Given the description of an element on the screen output the (x, y) to click on. 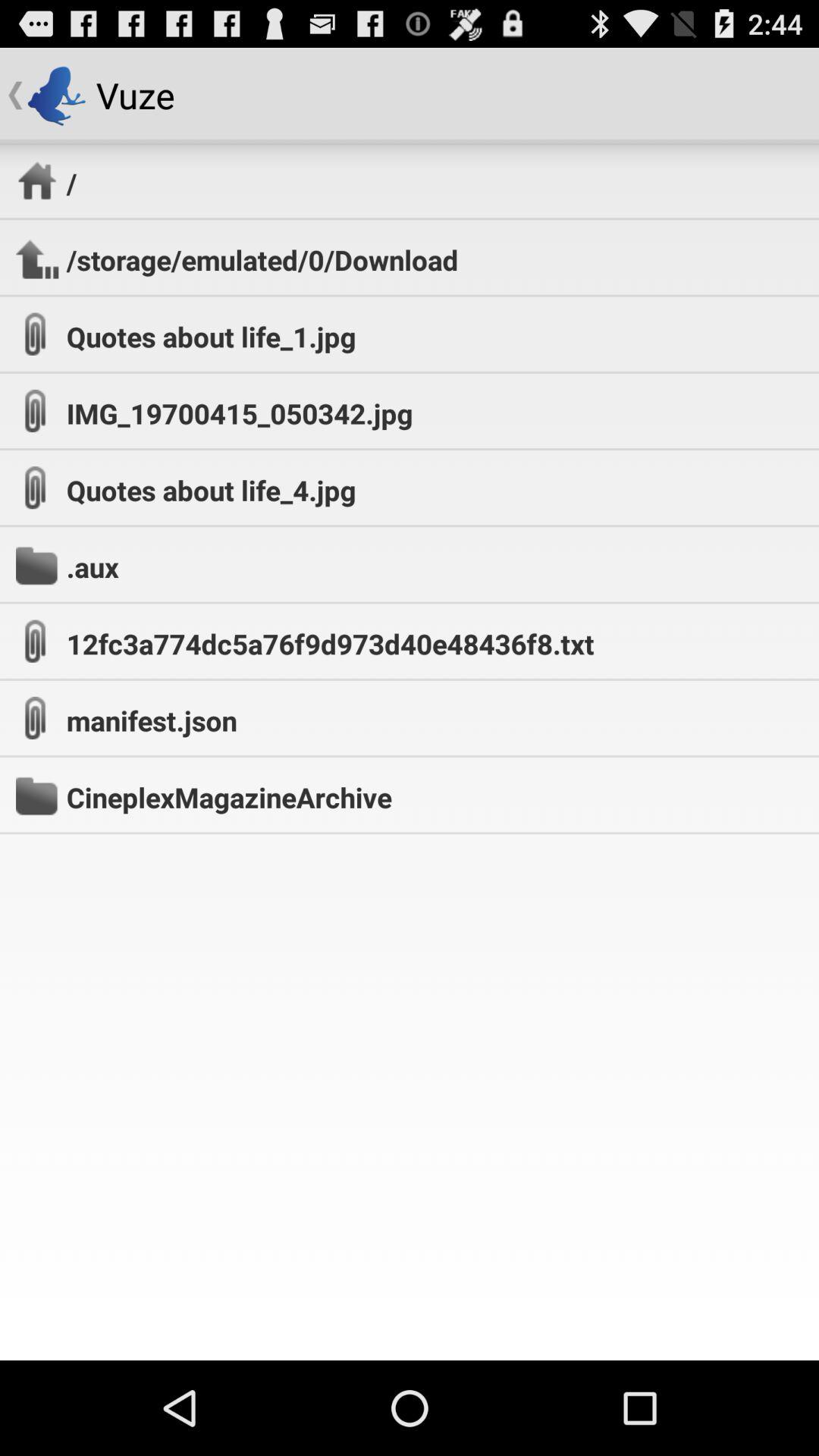
jump to storage emulated 0 icon (262, 259)
